Given the description of an element on the screen output the (x, y) to click on. 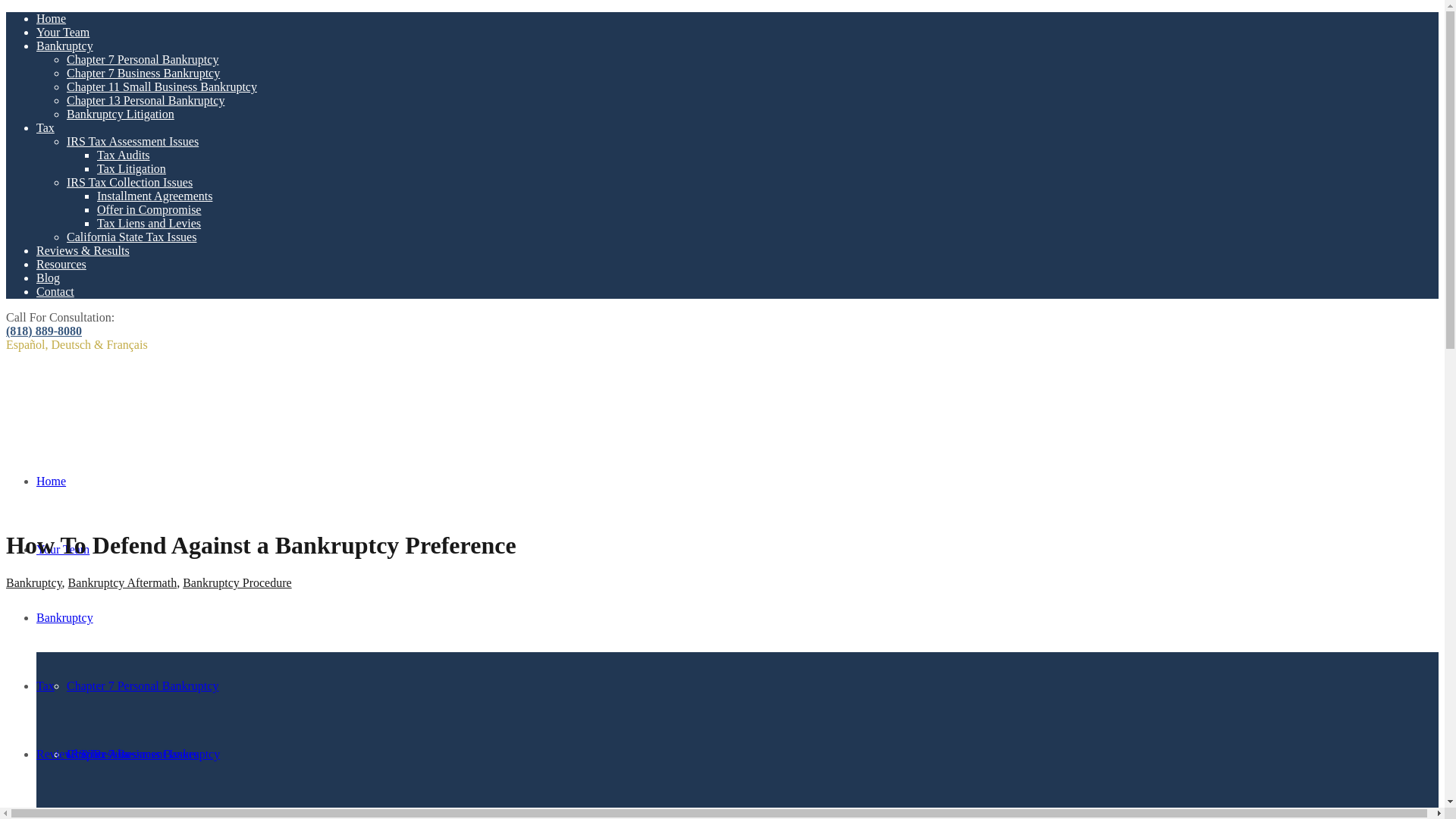
Tax Audits (123, 817)
Chapter 13 Personal Bankruptcy (145, 100)
IRS Tax Assessment Issues (132, 753)
Resources (60, 264)
Tax (45, 685)
Chapter 7 Personal Bankruptcy (142, 685)
Your Team (62, 31)
Tax (45, 127)
Offer in Compromise (148, 209)
Bankruptcy (64, 617)
